Given the description of an element on the screen output the (x, y) to click on. 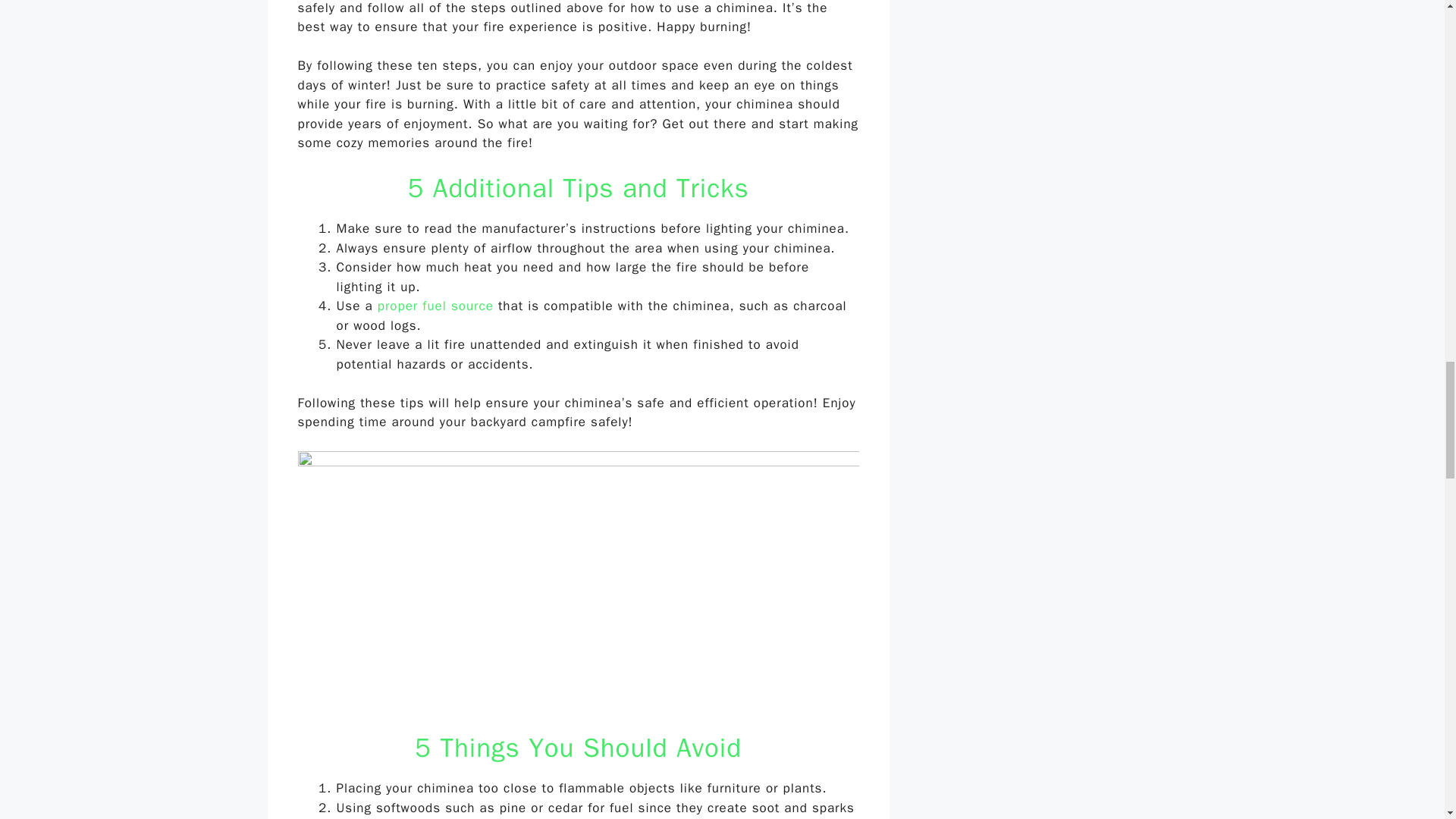
proper fuel source (432, 305)
